Given the description of an element on the screen output the (x, y) to click on. 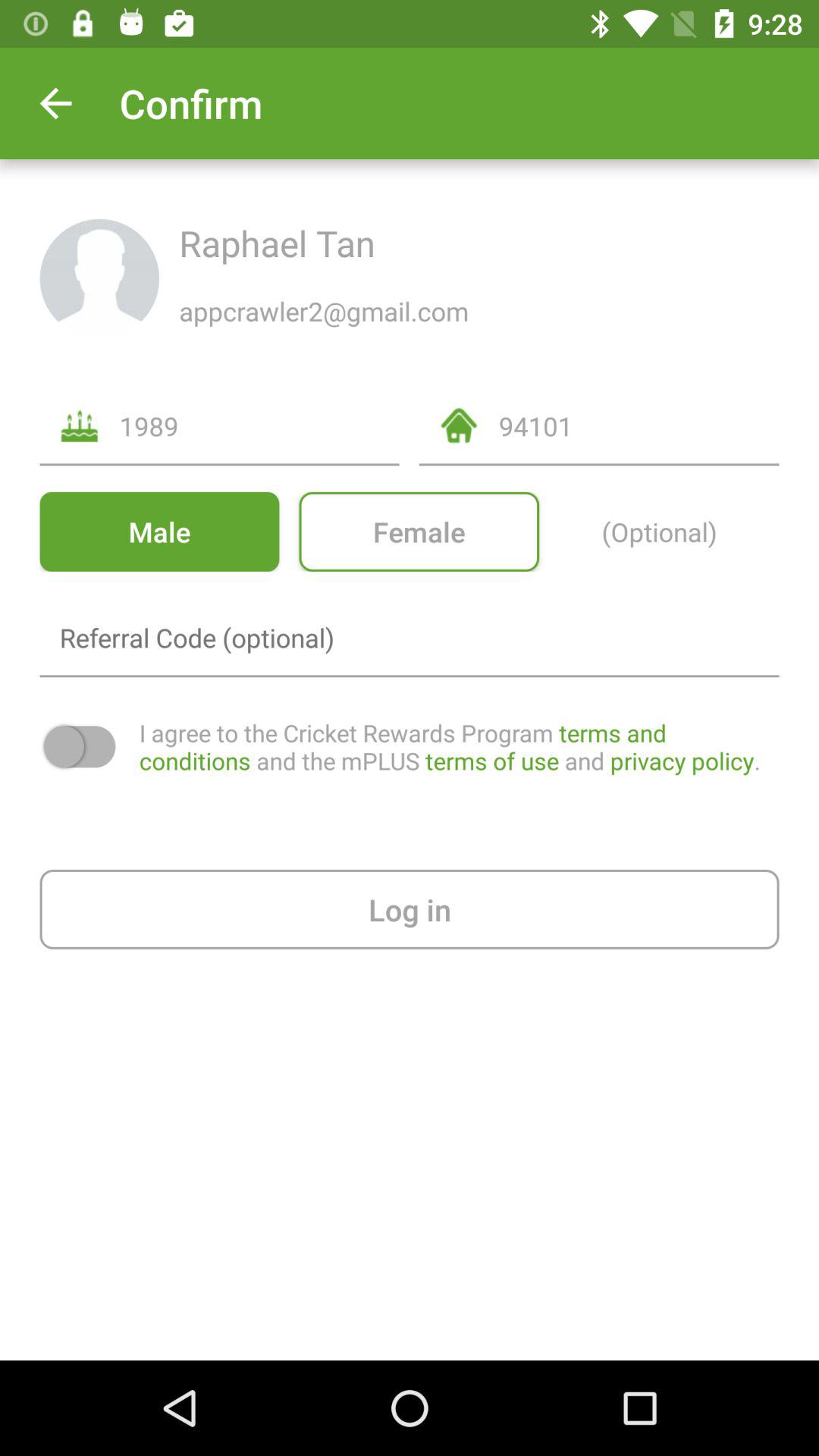
select item below the i agree to (409, 909)
